Given the description of an element on the screen output the (x, y) to click on. 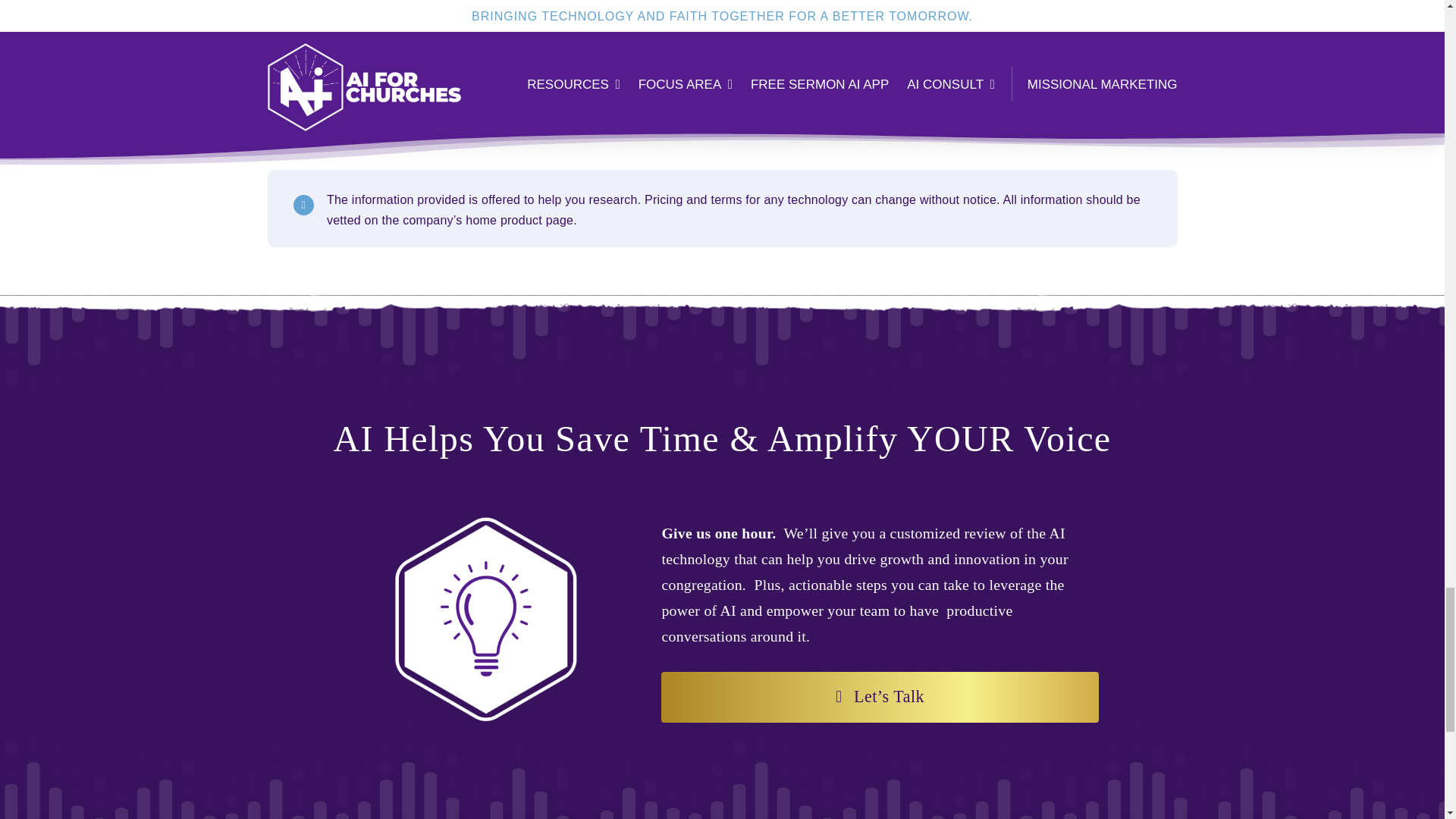
Download: AutoDraw Tech Evaluation (722, 106)
